Given the description of an element on the screen output the (x, y) to click on. 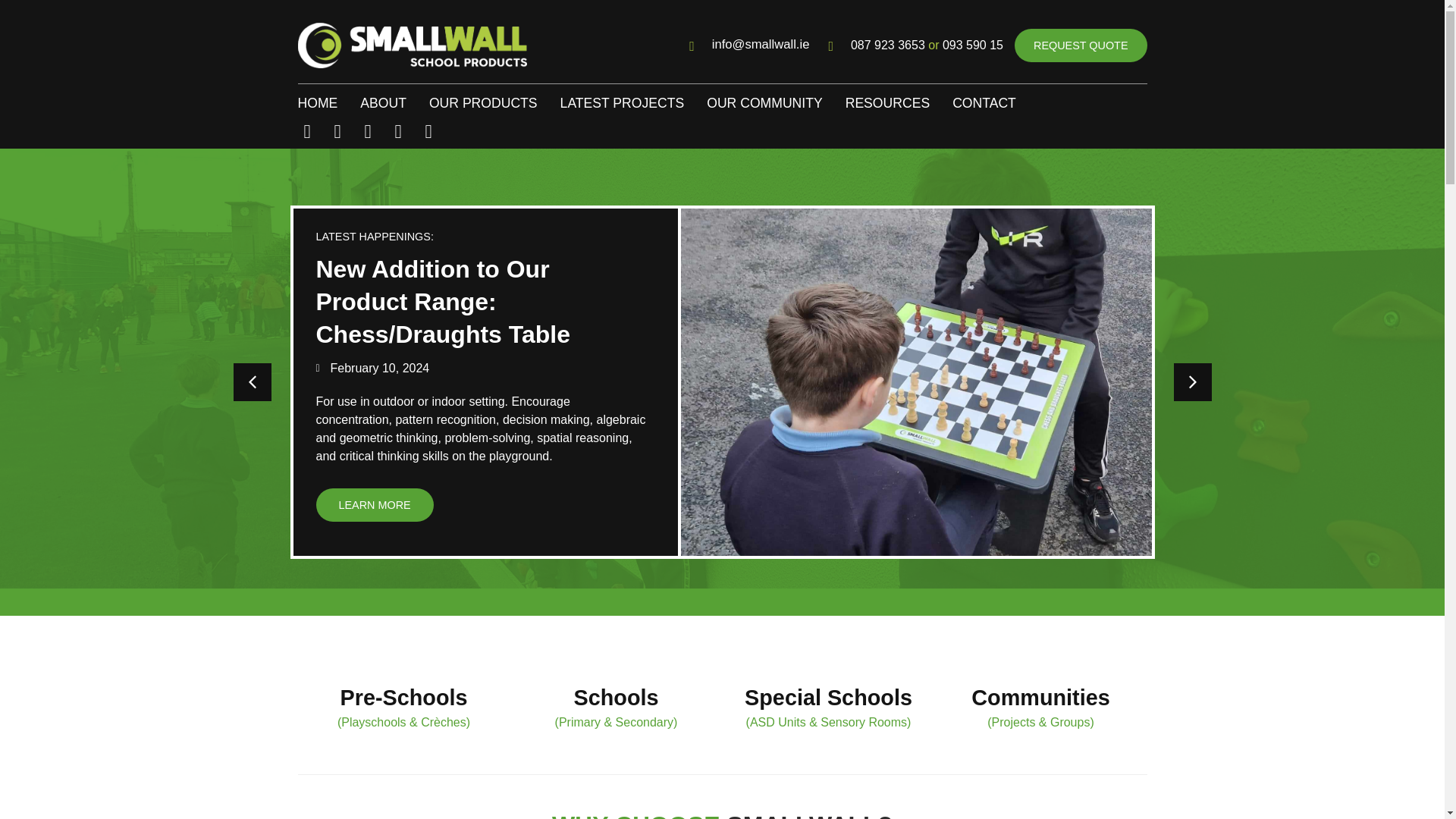
LATEST PROJECTS (622, 102)
OUR COMMUNITY (764, 102)
CONTACT (984, 102)
Schools (615, 697)
LEARN MORE (373, 504)
OUR PRODUCTS (483, 102)
Pre-Schools (403, 697)
REQUEST QUOTE (1080, 45)
RESOURCES (887, 102)
HOME (317, 102)
ABOUT (382, 102)
Special Schools (828, 697)
